Given the description of an element on the screen output the (x, y) to click on. 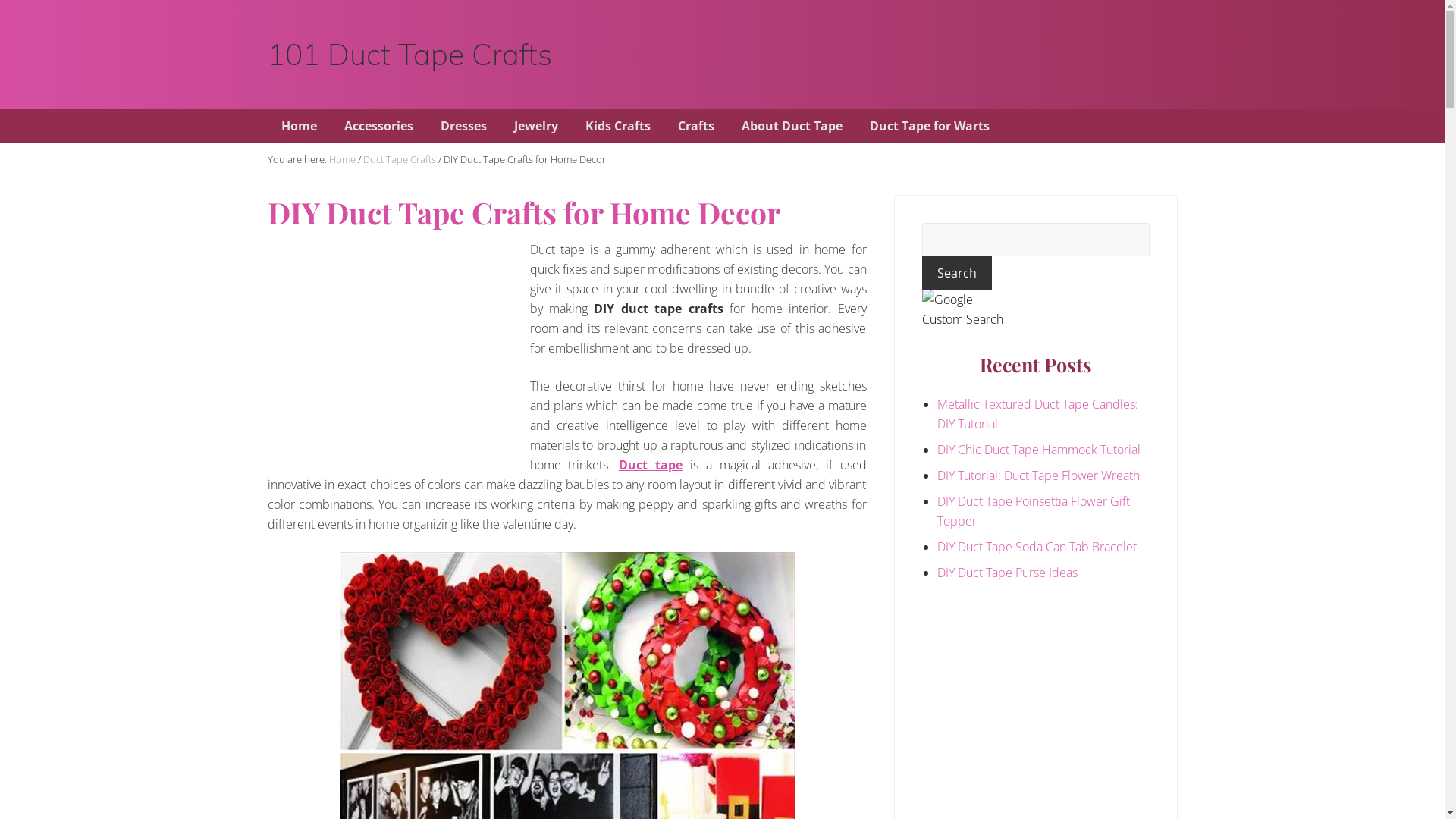
Kids Crafts Element type: text (617, 125)
Duct Tape Crafts Element type: text (398, 159)
Duct tape Element type: text (650, 464)
Duct Tape for Warts Element type: text (928, 125)
Search Element type: text (956, 272)
About Duct Tape Element type: text (792, 125)
DIY Chic Duct Tape Hammock Tutorial Element type: text (1038, 449)
DIY Duct Tape Purse Ideas Element type: text (1007, 572)
101 Duct Tape Crafts Element type: text (408, 54)
Advertisement Element type: hover (913, 52)
DIY Duct Tape Soda Can Tab Bracelet Element type: text (1036, 546)
Dresses Element type: text (462, 125)
DIY Duct Tape Poinsettia Flower Gift Topper Element type: text (1033, 510)
Home Element type: text (297, 125)
Accessories Element type: text (378, 125)
Home Element type: text (342, 159)
Metallic Textured Duct Tape Candles: DIY Tutorial Element type: text (1037, 413)
Skip to primary navigation Element type: text (0, 0)
DIY Tutorial: Duct Tape Flower Wreath Element type: text (1038, 475)
Jewelry Element type: text (535, 125)
Crafts Element type: text (696, 125)
Advertisement Element type: hover (393, 345)
